Given the description of an element on the screen output the (x, y) to click on. 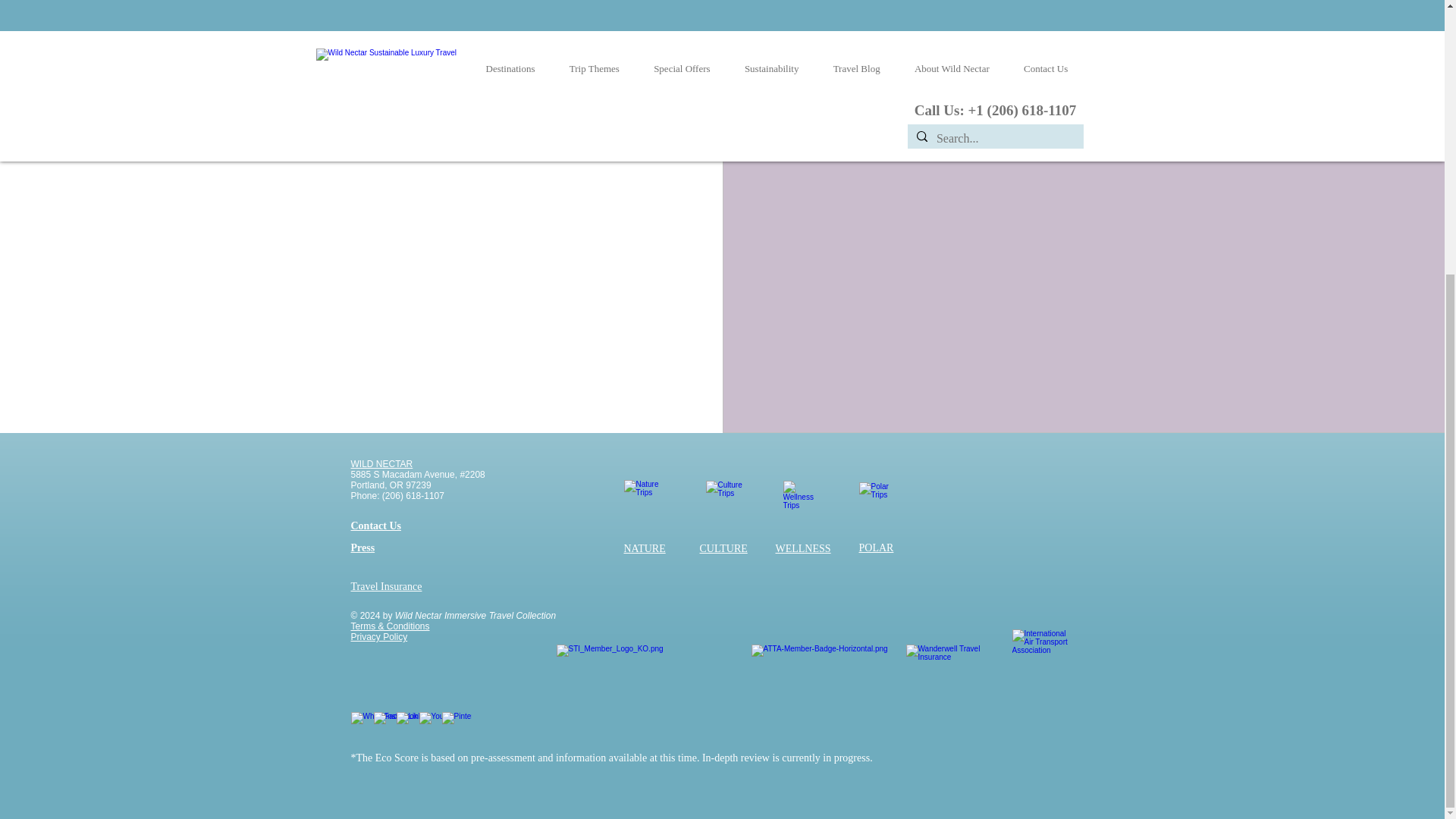
Contact Us (375, 525)
Back to Homepage (257, 131)
WILD NECTAR (381, 463)
Press (362, 547)
